Given the description of an element on the screen output the (x, y) to click on. 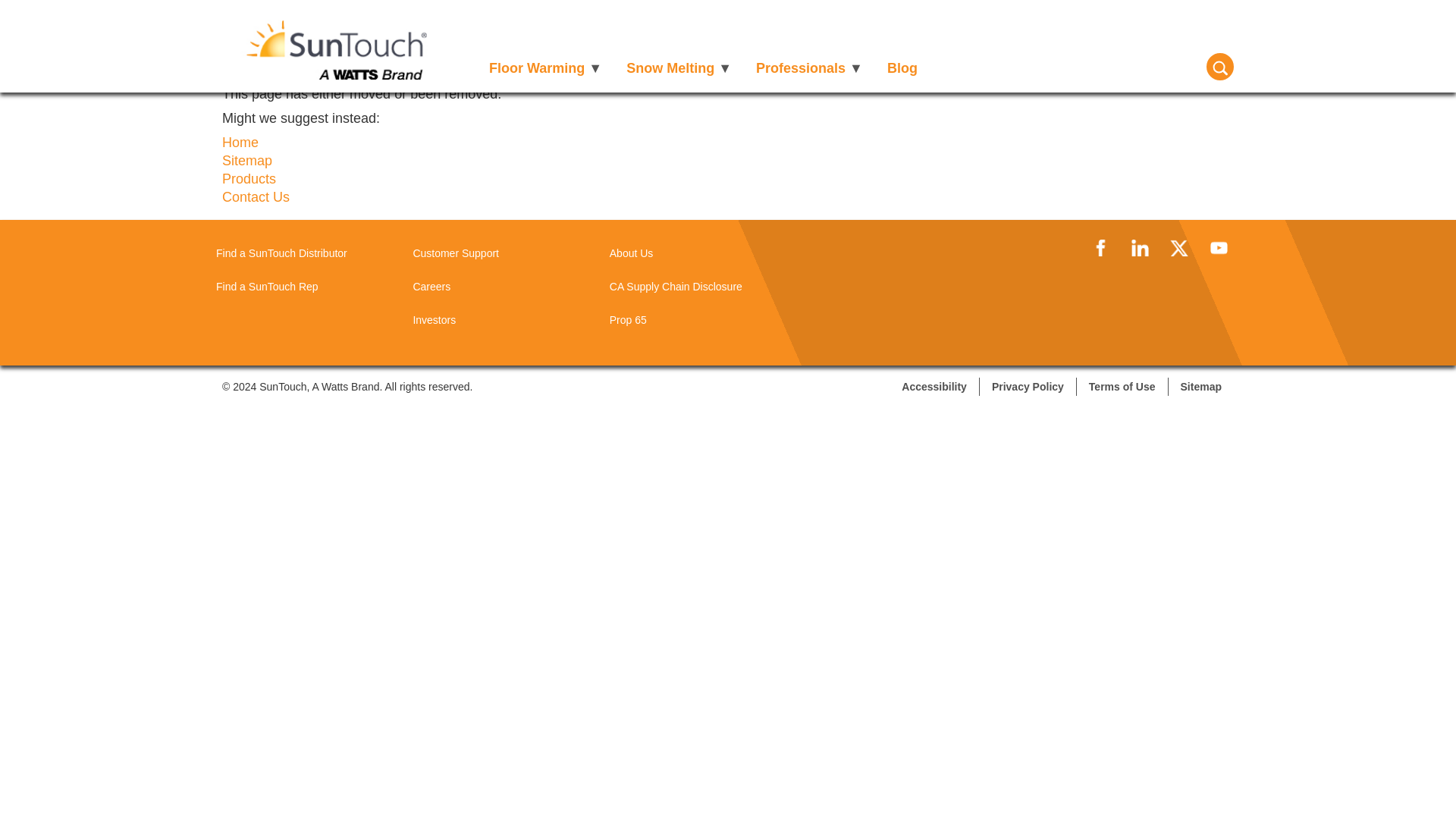
Floor Warming (545, 67)
Accessibility (933, 386)
Twitter (1179, 247)
YouTube (1218, 247)
LinkedIn (1139, 247)
Facebook (1099, 247)
